Given the description of an element on the screen output the (x, y) to click on. 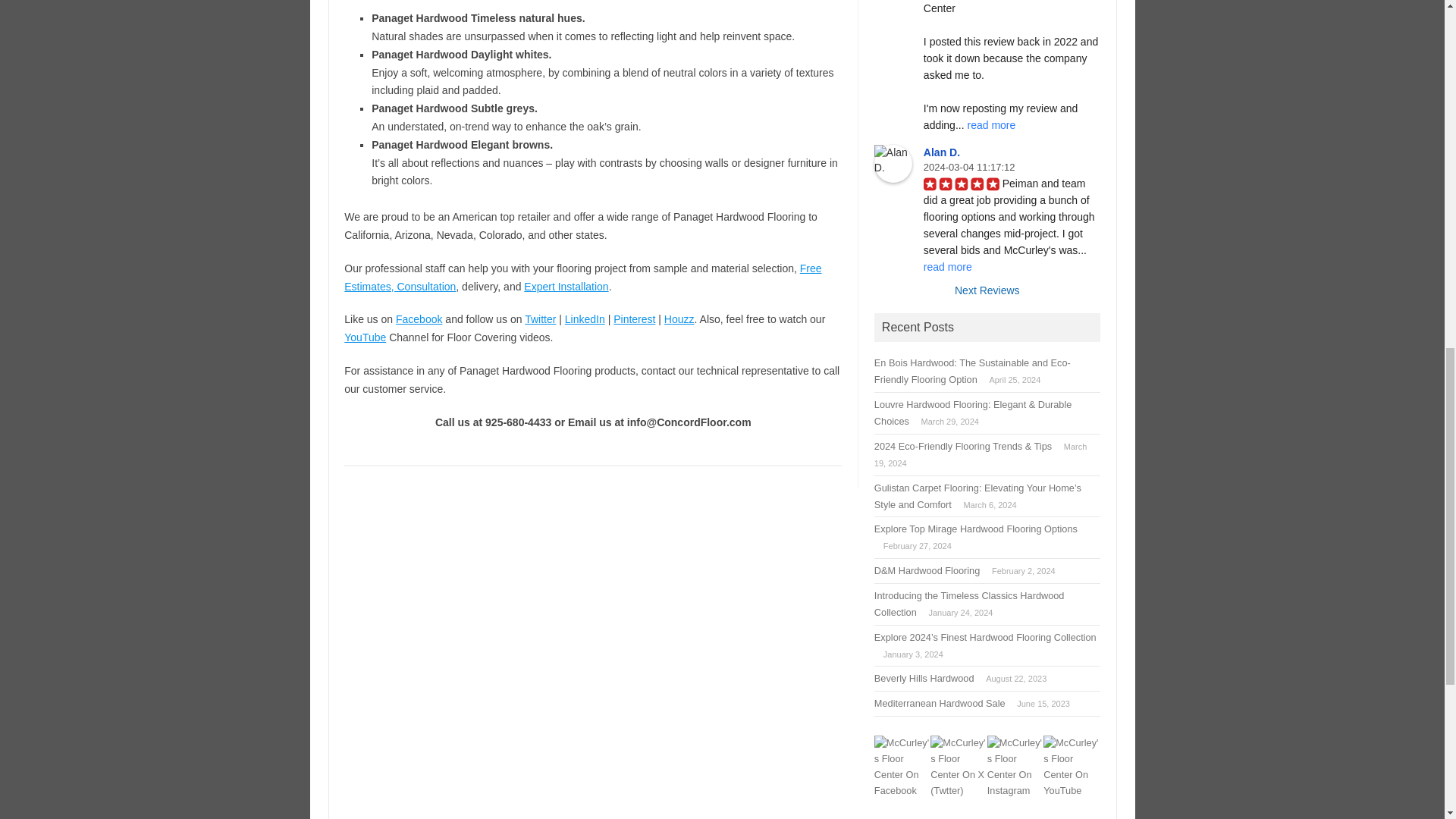
Alan D. (893, 163)
